Given the description of an element on the screen output the (x, y) to click on. 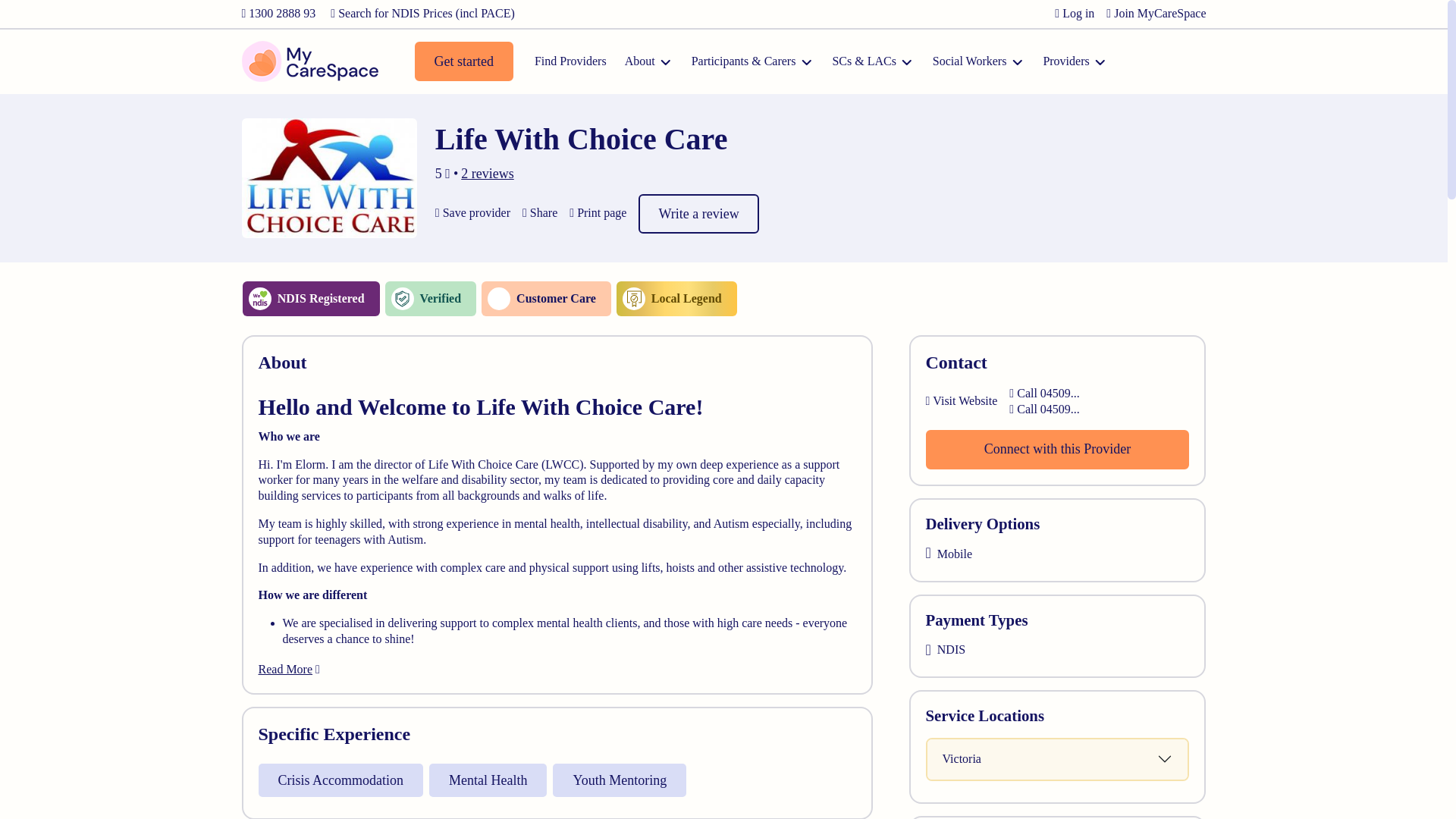
Log in (1074, 12)
Providers (1074, 61)
MCS NDIS Registered (311, 298)
MCS Verified (431, 298)
About (648, 61)
Social Workers (979, 61)
Get started (462, 61)
Join MyCareSpace (1155, 12)
Find Providers (570, 61)
1300 2888 93 (278, 12)
